Given the description of an element on the screen output the (x, y) to click on. 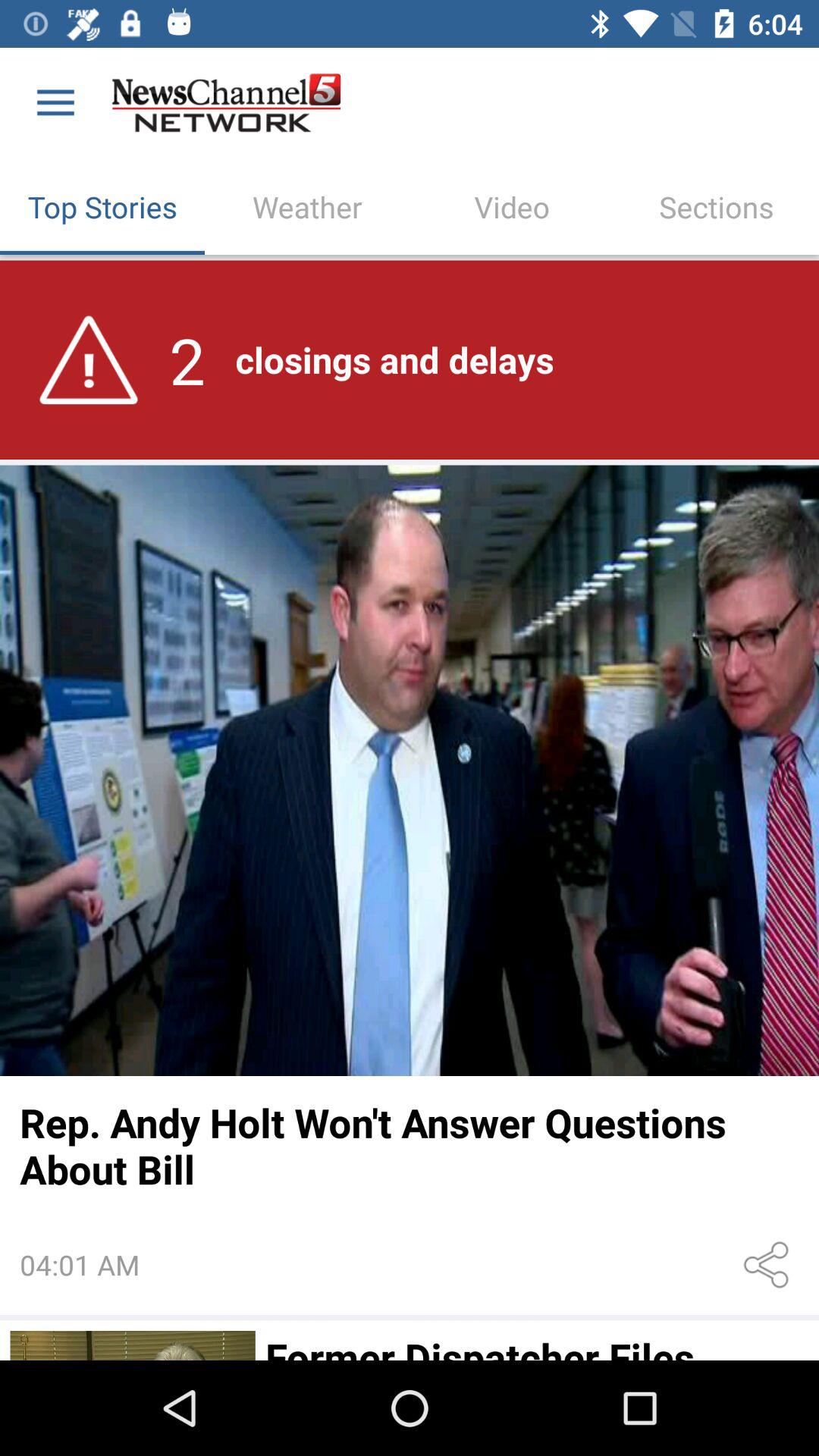
launch icon above the former dispatcher files icon (769, 1265)
